Given the description of an element on the screen output the (x, y) to click on. 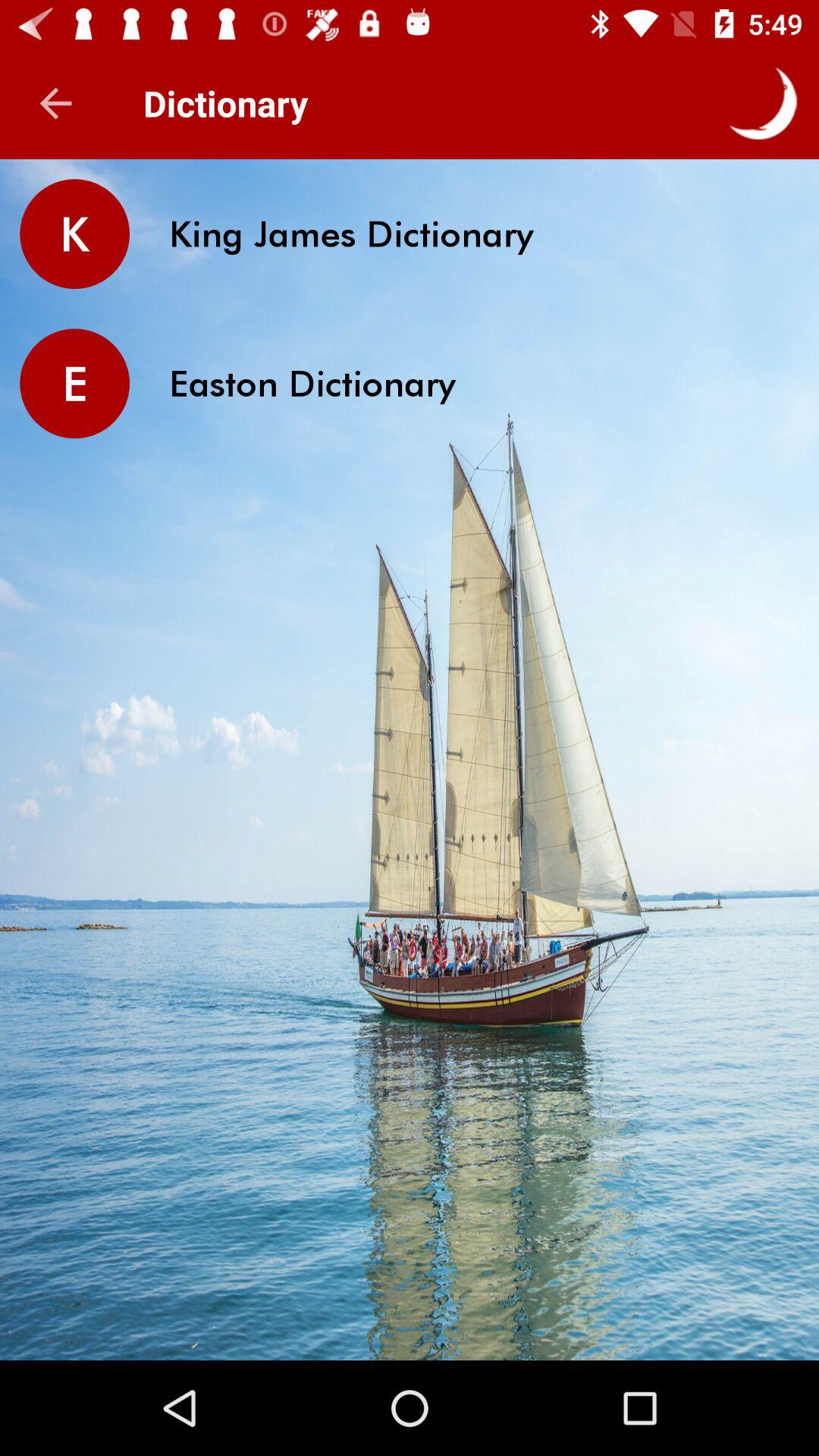
icon button (763, 103)
